Given the description of an element on the screen output the (x, y) to click on. 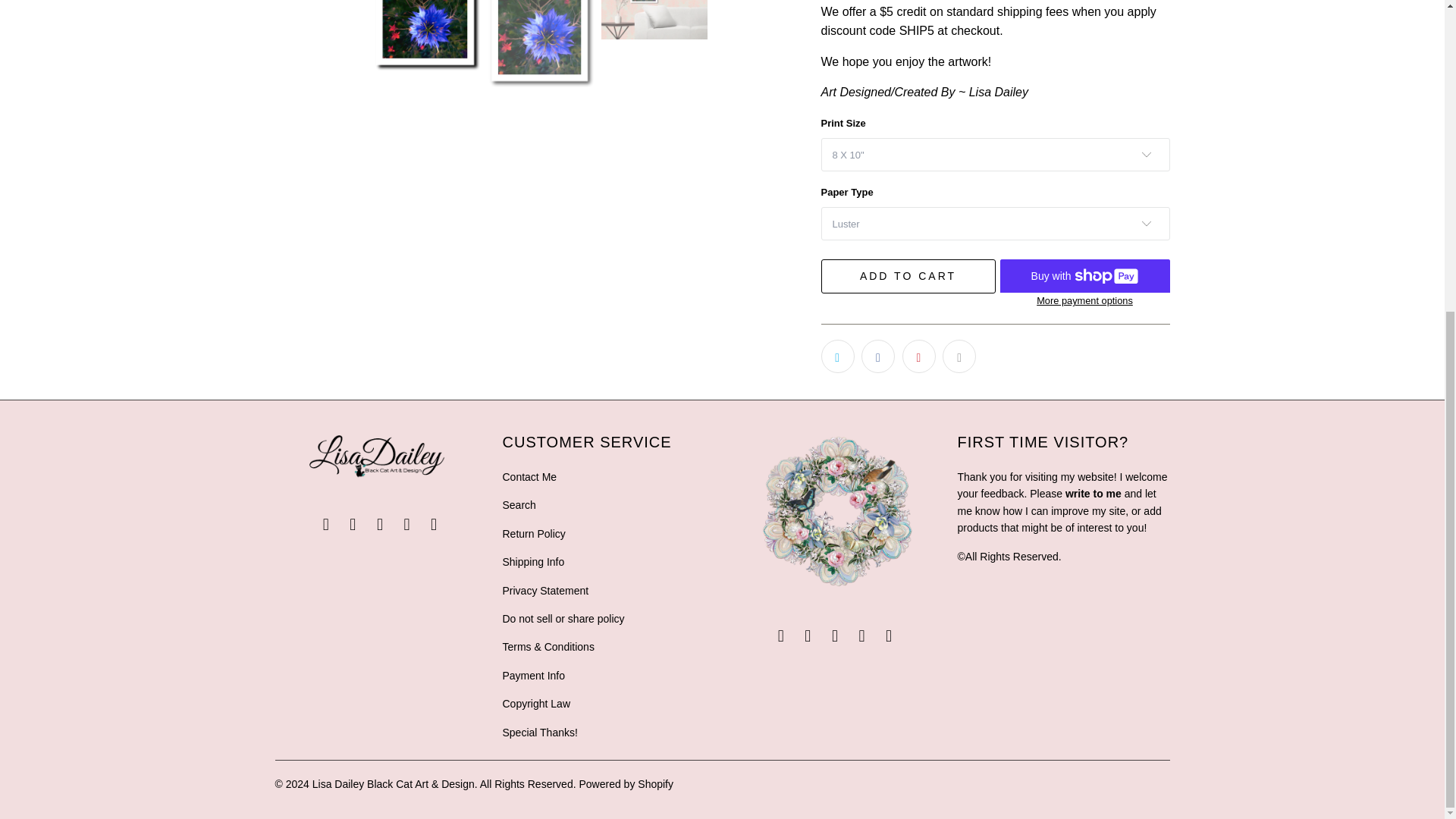
Share this on Pinterest (919, 356)
Share this on Twitter (837, 356)
Email this to a friend (958, 356)
Share this on Facebook (878, 356)
